Given the description of an element on the screen output the (x, y) to click on. 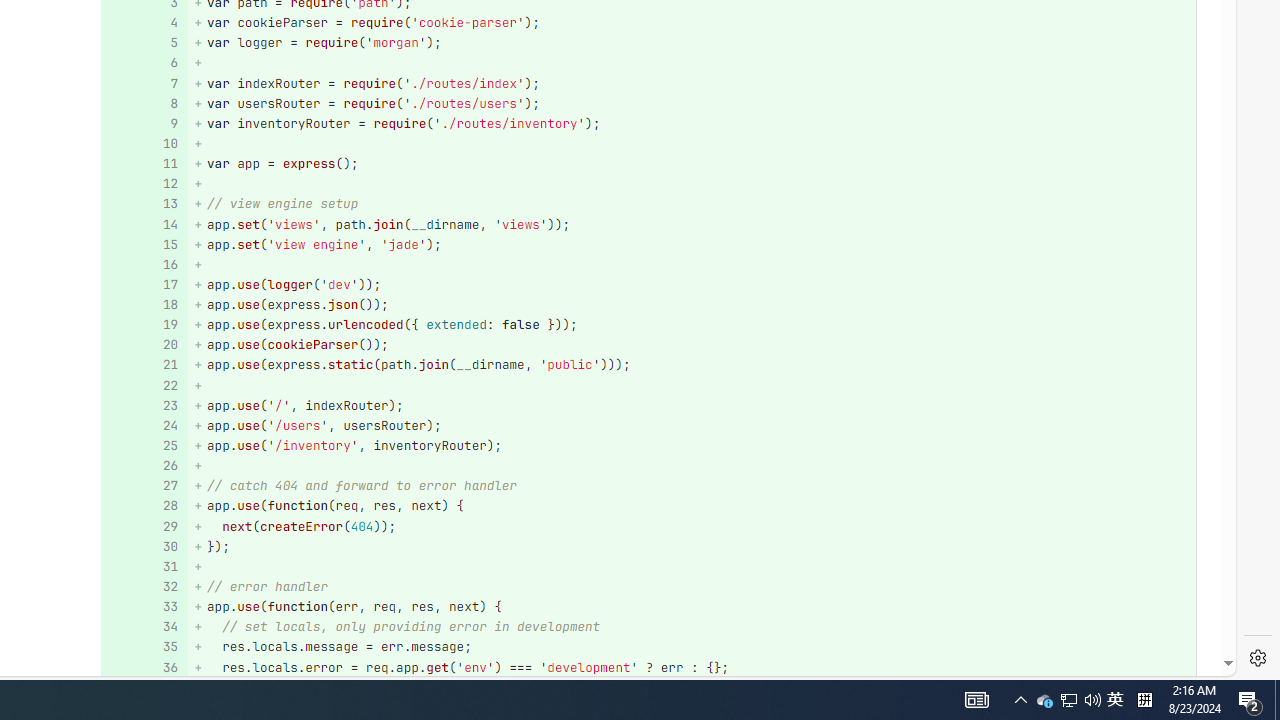
Add a comment to this line 29 (144, 526)
15 (141, 244)
23 (141, 405)
27 (141, 485)
9 (141, 123)
Add a comment to this line 16 (144, 264)
21 (141, 364)
Add a comment to this line 9 (144, 123)
+ app.use('/inventory', inventoryRouter);  (691, 446)
Add a comment to this line 27 (144, 485)
+ app.use(express.json());  (691, 305)
20 (141, 344)
+ var logger = require('morgan');  (691, 43)
5 (141, 43)
